Given the description of an element on the screen output the (x, y) to click on. 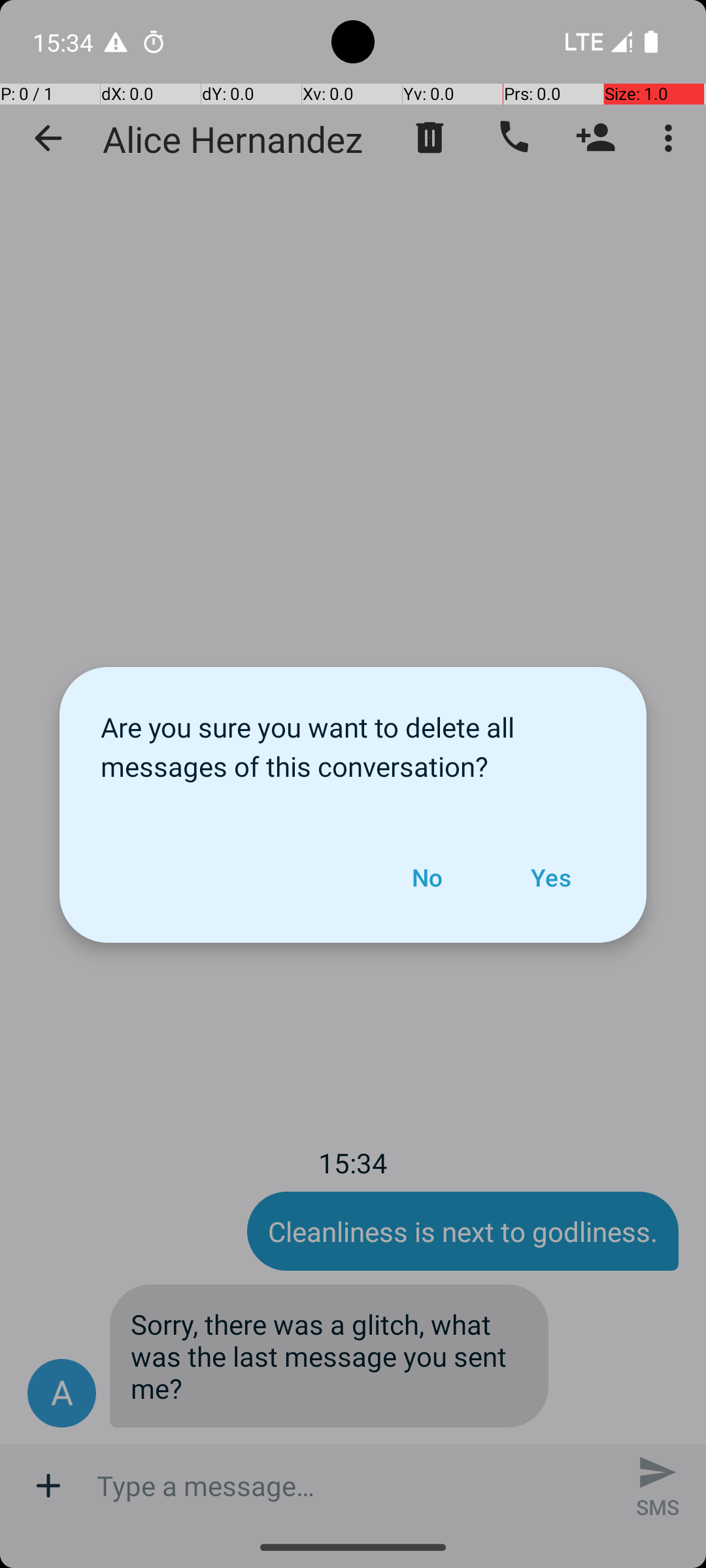
Are you sure you want to delete all messages of this conversation? Element type: android.widget.TextView (352, 739)
No Element type: android.widget.Button (426, 877)
Yes Element type: android.widget.Button (550, 877)
